Given the description of an element on the screen output the (x, y) to click on. 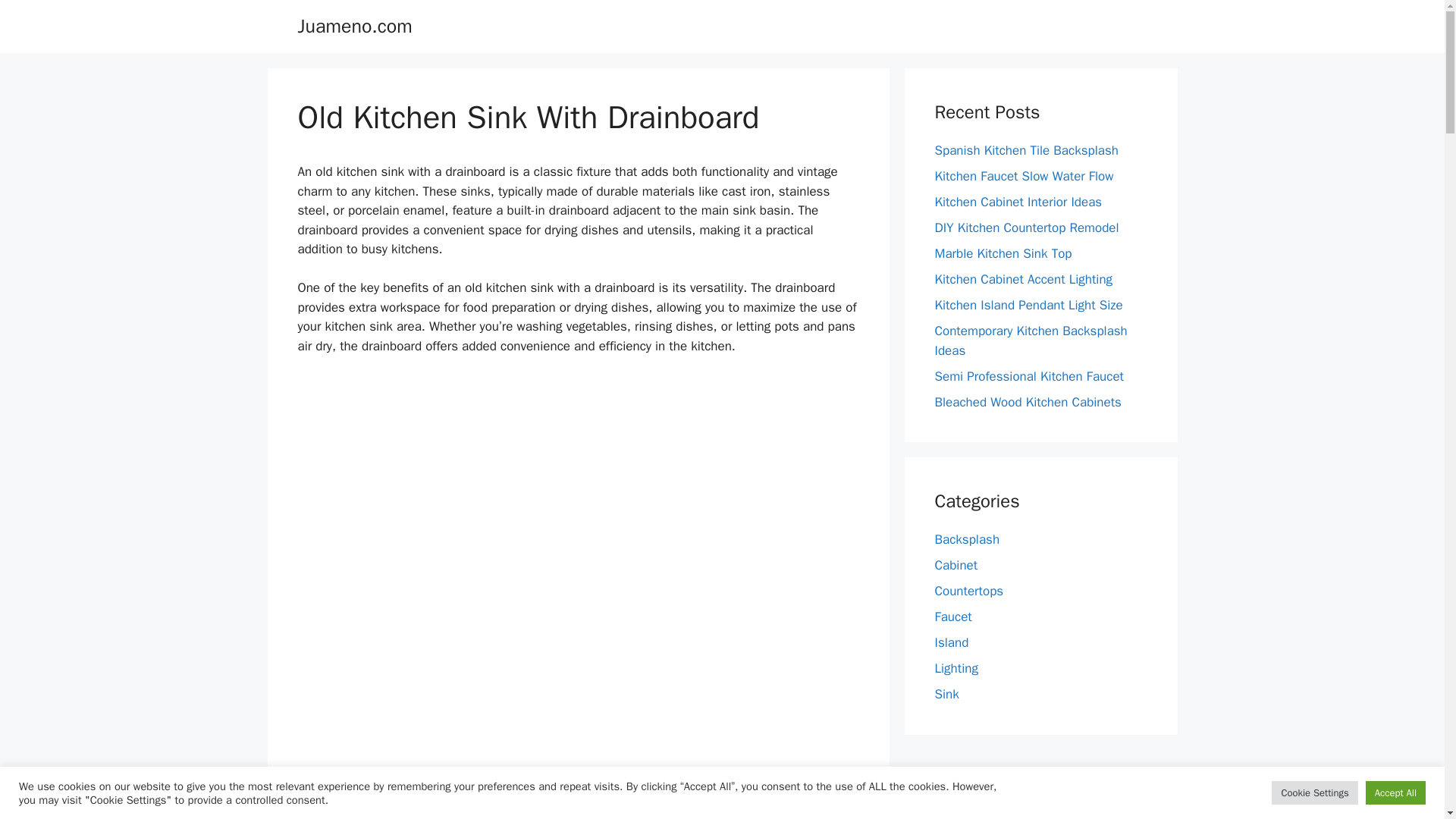
Cookie Settings (1313, 792)
Cabinet (955, 565)
Semi Professional Kitchen Faucet (1029, 376)
DIY Kitchen Countertop Remodel (1026, 227)
Contemporary Kitchen Backsplash Ideas (1030, 340)
Kitchen Cabinet Accent Lighting (1023, 279)
Kitchen Island Pendant Light Size (1028, 304)
Faucet (952, 616)
Juameno.com (354, 25)
Bleached Wood Kitchen Cabinets (1027, 401)
Backsplash (966, 539)
Marble Kitchen Sink Top (1002, 253)
Kitchen Cabinet Interior Ideas (1018, 201)
Spanish Kitchen Tile Backsplash (1026, 150)
Kitchen Faucet Slow Water Flow (1023, 176)
